Given the description of an element on the screen output the (x, y) to click on. 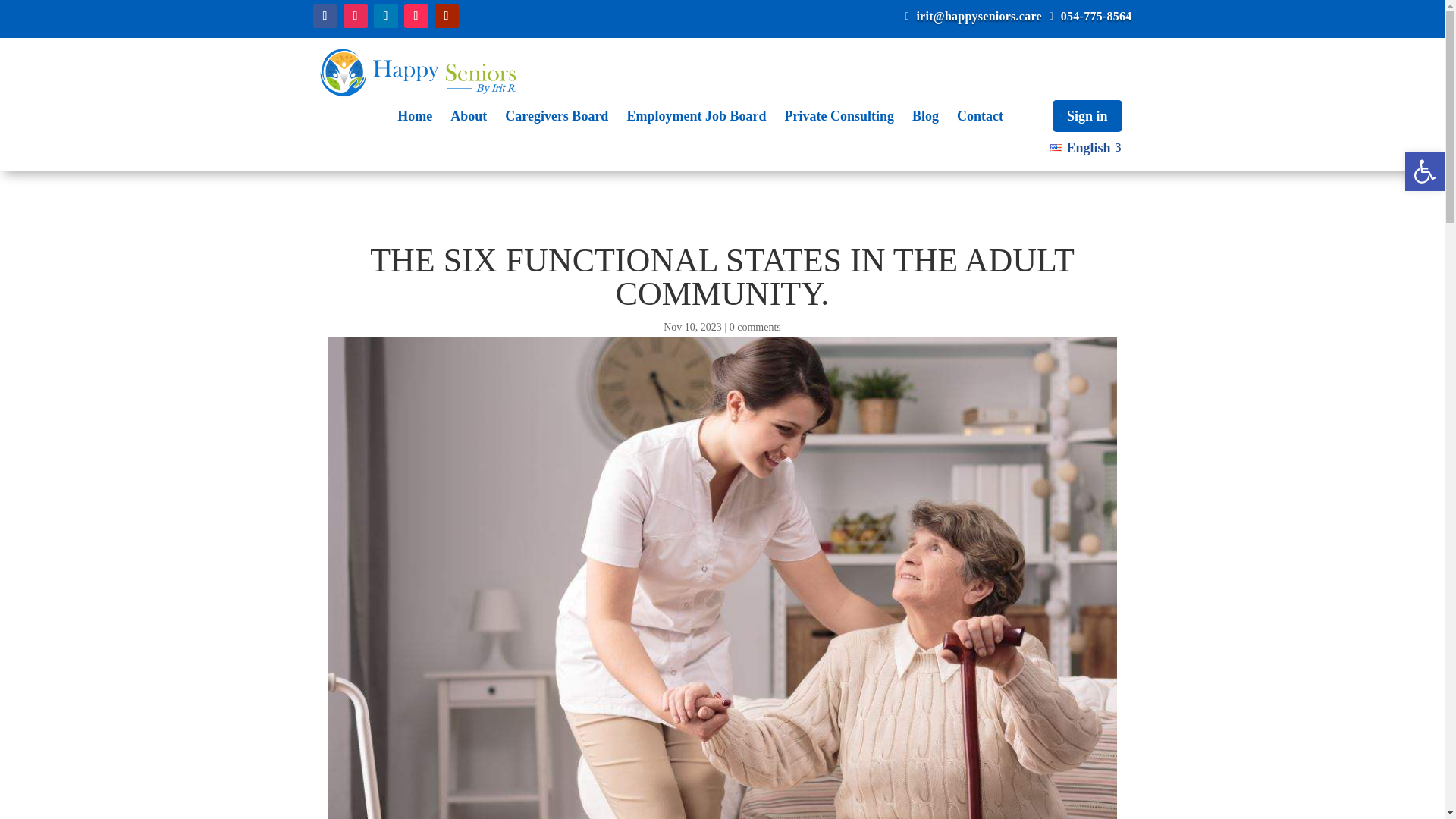
Employment Job Board (696, 115)
Accessibility Tools (1424, 170)
Follow on Facebook (324, 15)
About (468, 115)
Sign in (1087, 115)
Follow on Youtube (445, 15)
Follow on Instagram (354, 15)
Private Consulting (839, 115)
Caregivers Board (555, 115)
Follow on LinkedIn (384, 15)
Contact (980, 115)
Follow on TikTok (415, 15)
Blog (924, 115)
English (1086, 147)
